Given the description of an element on the screen output the (x, y) to click on. 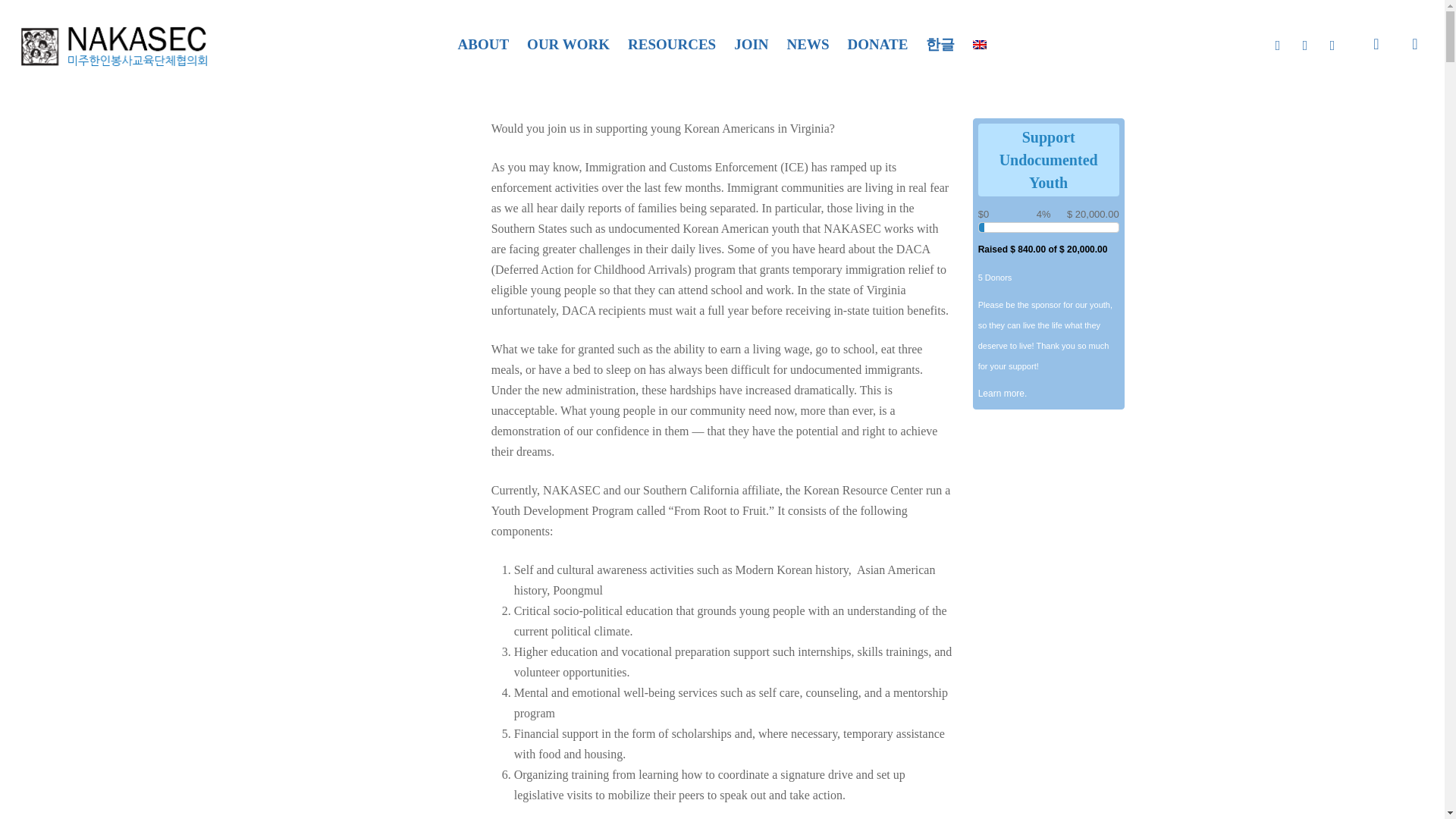
RESOURCES (671, 43)
JOIN (750, 43)
NEWS (808, 43)
DONATE (877, 43)
ABOUT (483, 43)
OUR WORK (568, 43)
